Given the description of an element on the screen output the (x, y) to click on. 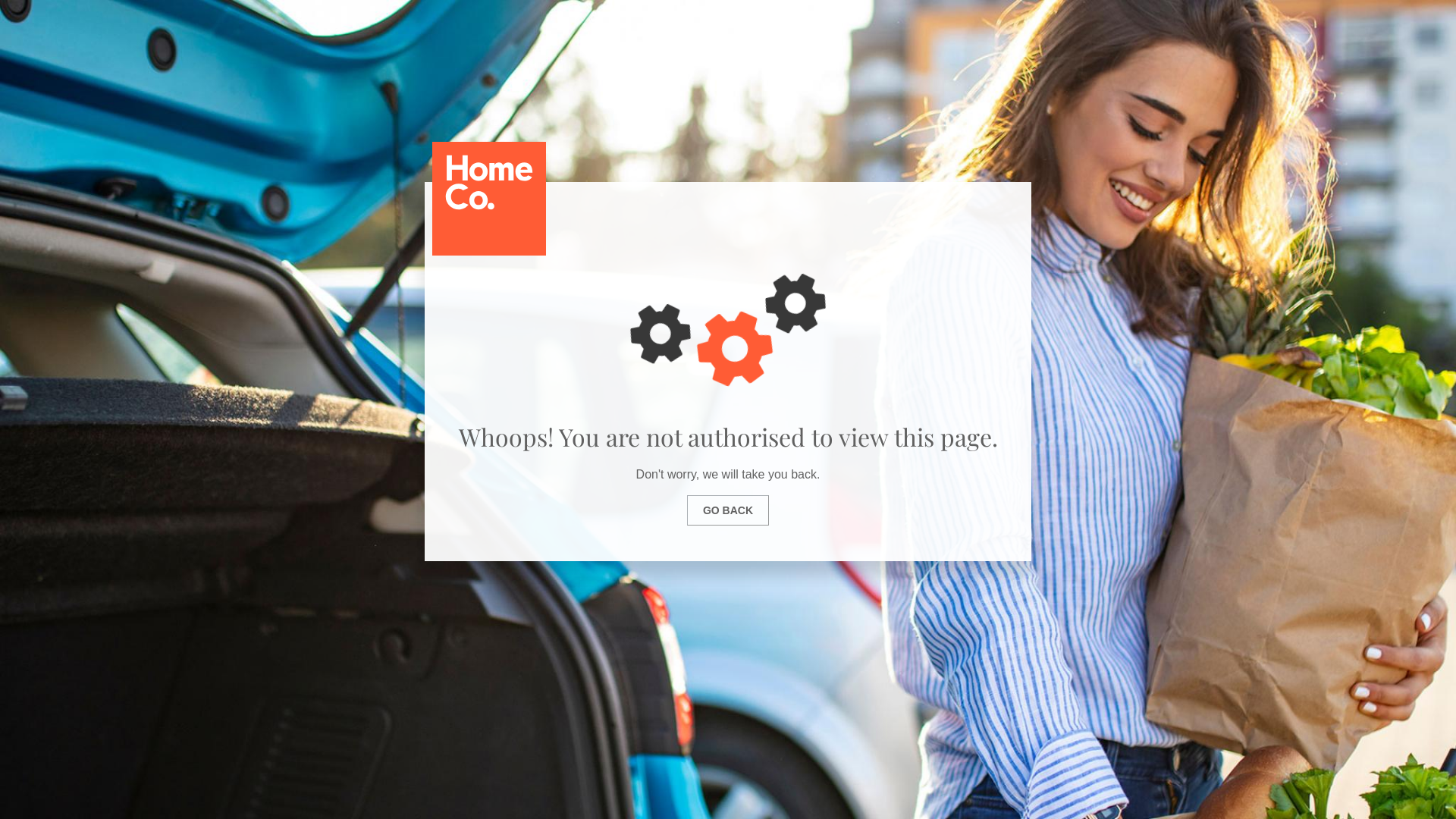
GO BACK Element type: text (727, 510)
